Given the description of an element on the screen output the (x, y) to click on. 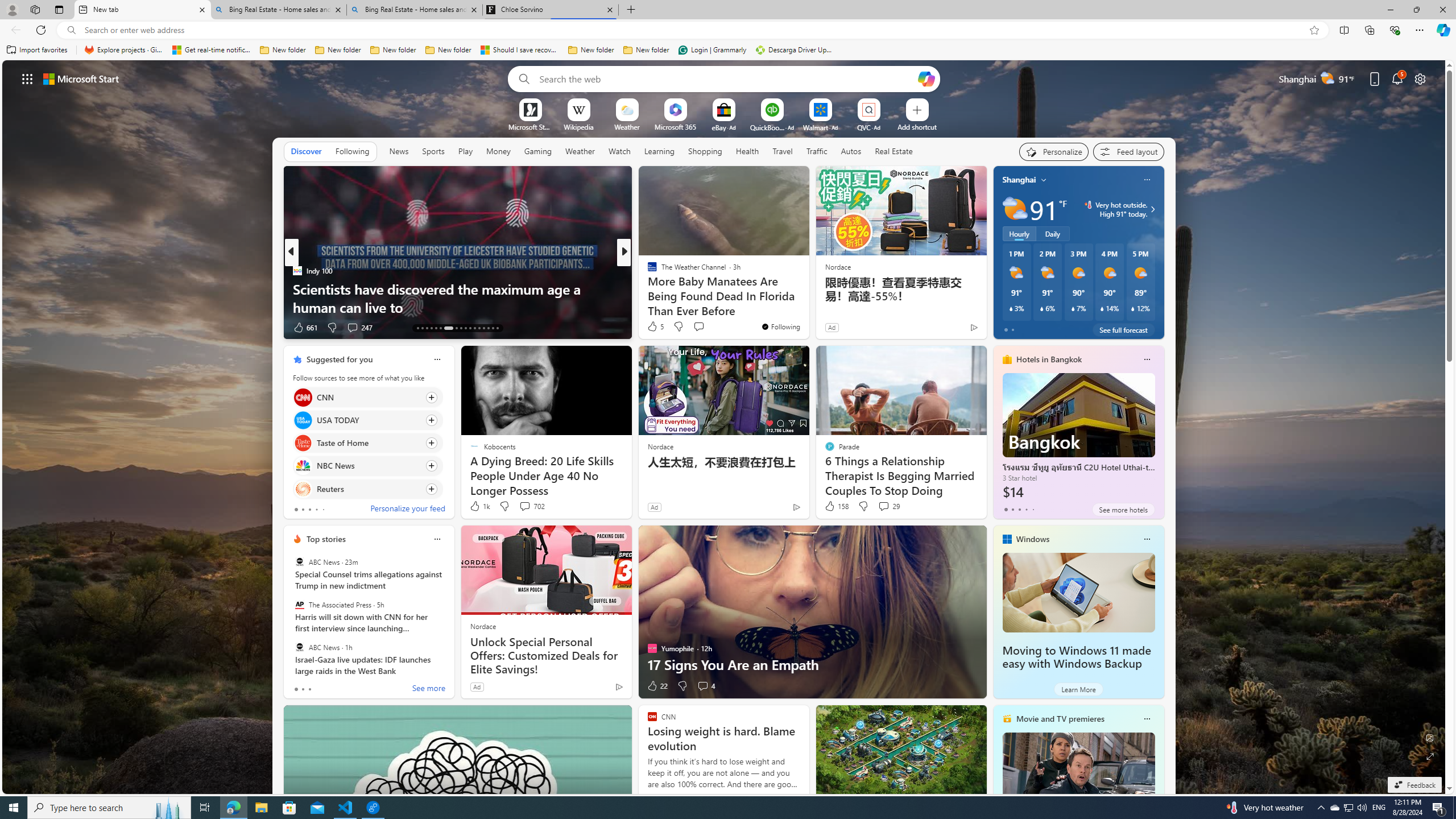
17 Like (652, 327)
View comments 5 Comment (705, 327)
AutomationID: tab-14 (422, 328)
Movie and TV premieres (1060, 718)
Gaming (537, 151)
Click to follow source Reuters (367, 488)
The Associated Press (299, 604)
Learning (659, 151)
Add a site (916, 126)
AutomationID: tab-25 (478, 328)
USA TODAY (302, 419)
16 Like (652, 327)
